Given the description of an element on the screen output the (x, y) to click on. 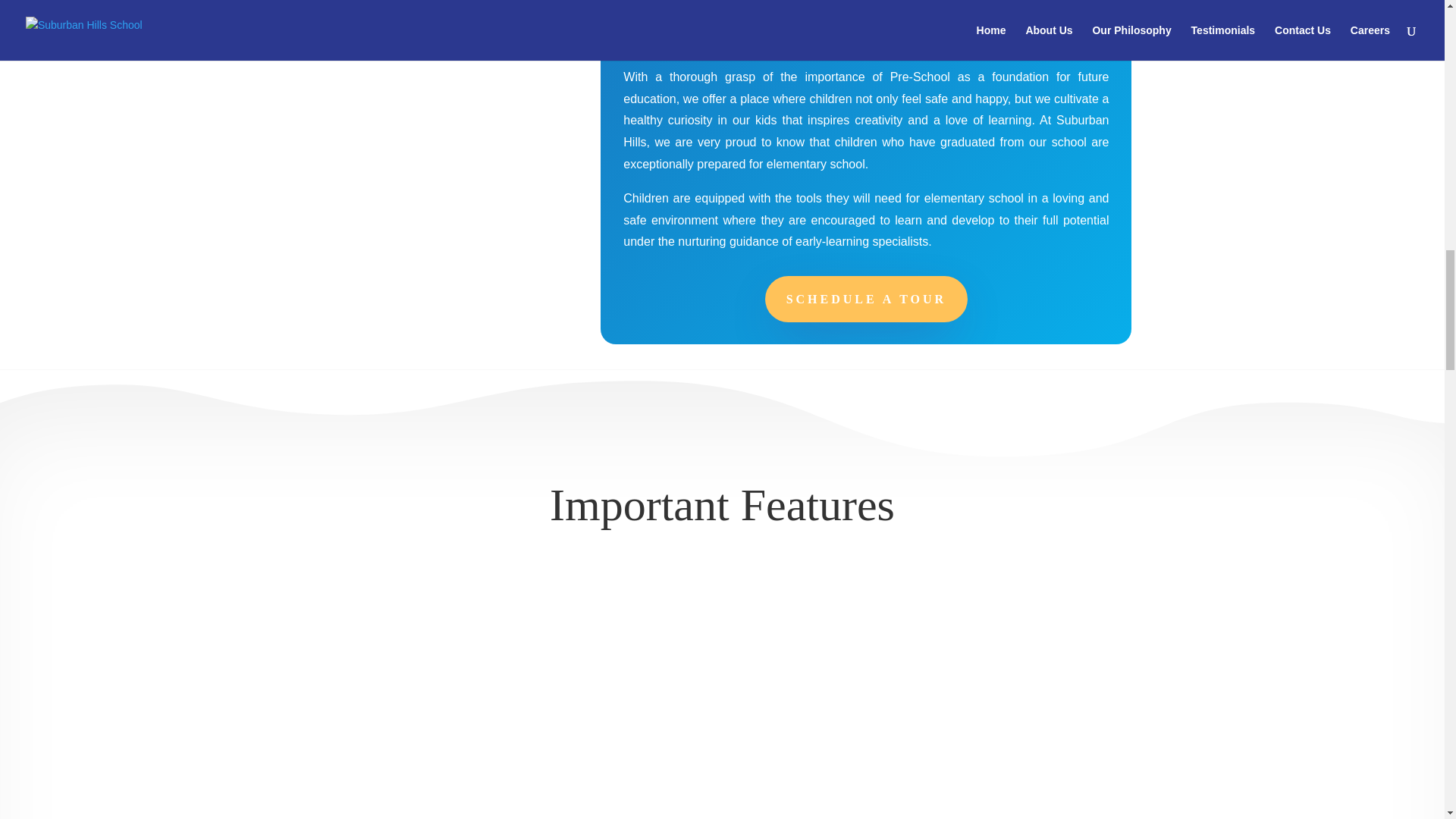
SCHEDULE A TOUR (866, 299)
